Given the description of an element on the screen output the (x, y) to click on. 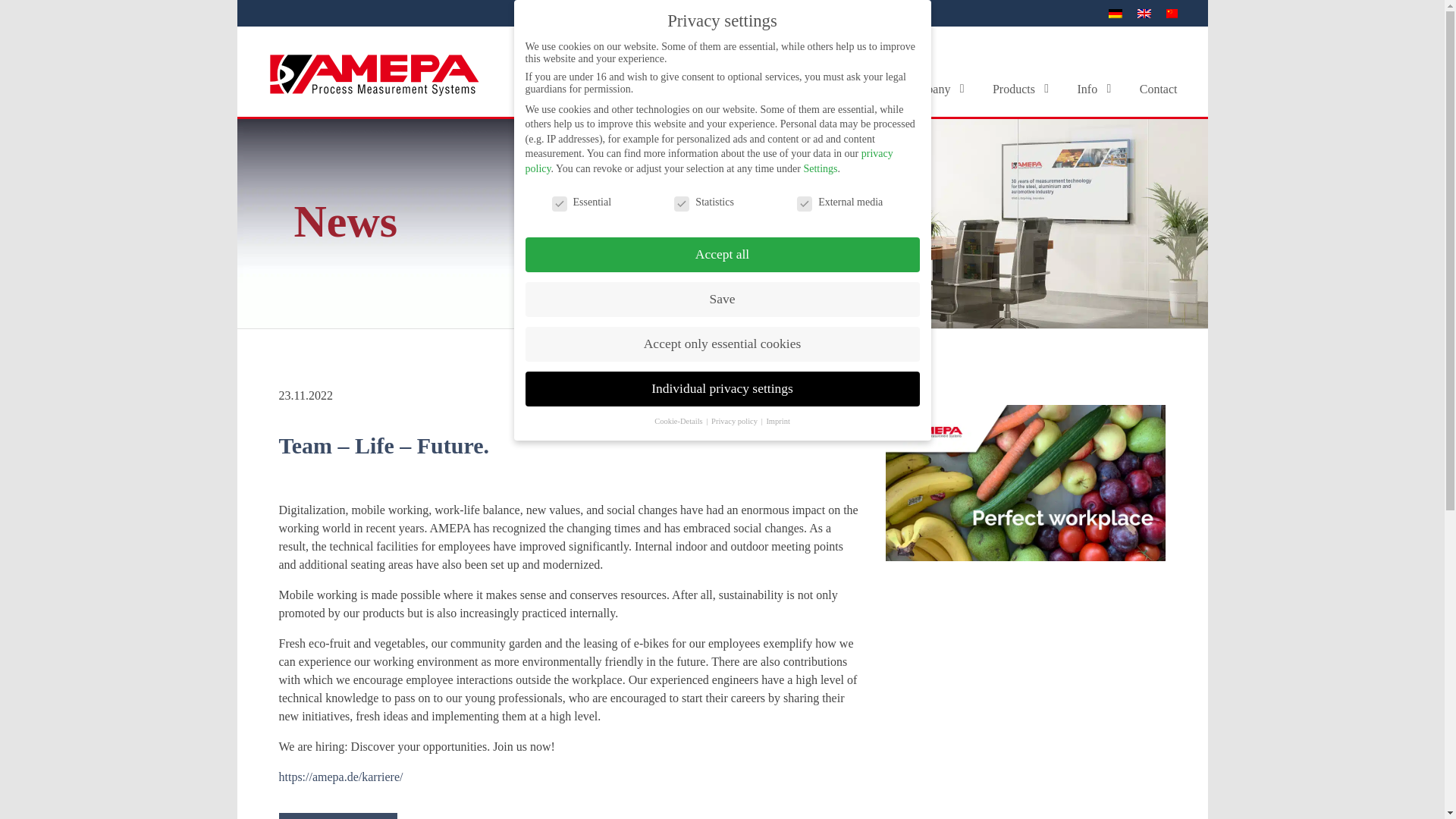
Homepage (854, 87)
Company (935, 87)
Products (721, 88)
Info (1023, 87)
Contact (1096, 87)
Aktuelles (1158, 87)
